Given the description of an element on the screen output the (x, y) to click on. 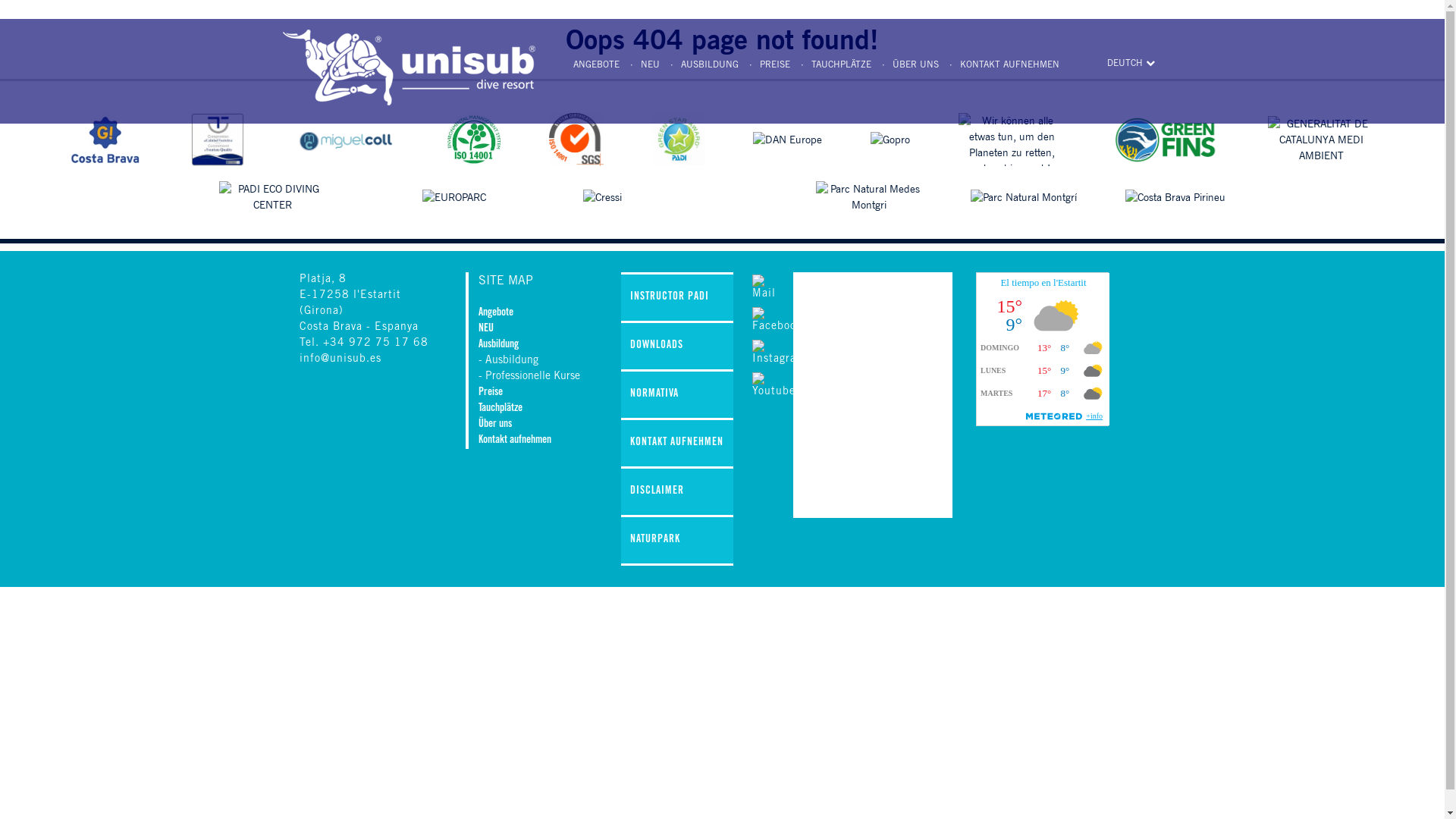
Facebook Element type: hover (777, 321)
PADI GREEN STAR AWARD Element type: hover (678, 139)
Costa Brava Element type: hover (106, 139)
Gopro Element type: hover (890, 139)
KONTAKT AUFNEHMEN Element type: text (677, 444)
DOWNLOADS Element type: text (677, 347)
IDC Estartit Element type: hover (345, 139)
Logo SICTED Element type: hover (217, 139)
Youtube Element type: hover (773, 386)
DISCLAIMER Element type: text (677, 492)
SGS Element type: hover (576, 139)
ANGEBOTE Element type: text (596, 65)
Angebote Element type: text (495, 312)
info@unisub.es Element type: text (340, 359)
PREISE Element type: text (765, 65)
- Professionelle Kurse Element type: text (529, 376)
NATURPARK Element type: text (677, 541)
ISO 14001 Element type: hover (473, 139)
Ausbildung Element type: text (498, 344)
AUSBILDUNG Element type: text (700, 65)
Mail Element type: hover (763, 288)
NORMATIVA Element type: text (677, 395)
Costa Brava Pirineu Element type: hover (1175, 197)
Greenfins member Element type: hover (1166, 139)
KONTAKT AUFNEHMEN Element type: text (1000, 65)
NEU Element type: text (485, 328)
EUROPARC Element type: hover (454, 197)
Parc Natural Medes Montgri Element type: hover (868, 197)
DAN Europe Element type: hover (787, 139)
Preise Element type: text (490, 392)
NEU Element type: text (639, 65)
Kontakt aufnehmen Element type: text (514, 440)
Instagram Element type: hover (779, 353)
Cressi Element type: hover (602, 197)
- Ausbildung Element type: text (508, 360)
PADI ECO DIVING CENTER Element type: hover (272, 197)
INSTRUCTOR PADI Element type: text (677, 298)
GENERALITAT DE CATALUNYA MEDI AMBIENT Element type: hover (1320, 139)
